Given the description of an element on the screen output the (x, y) to click on. 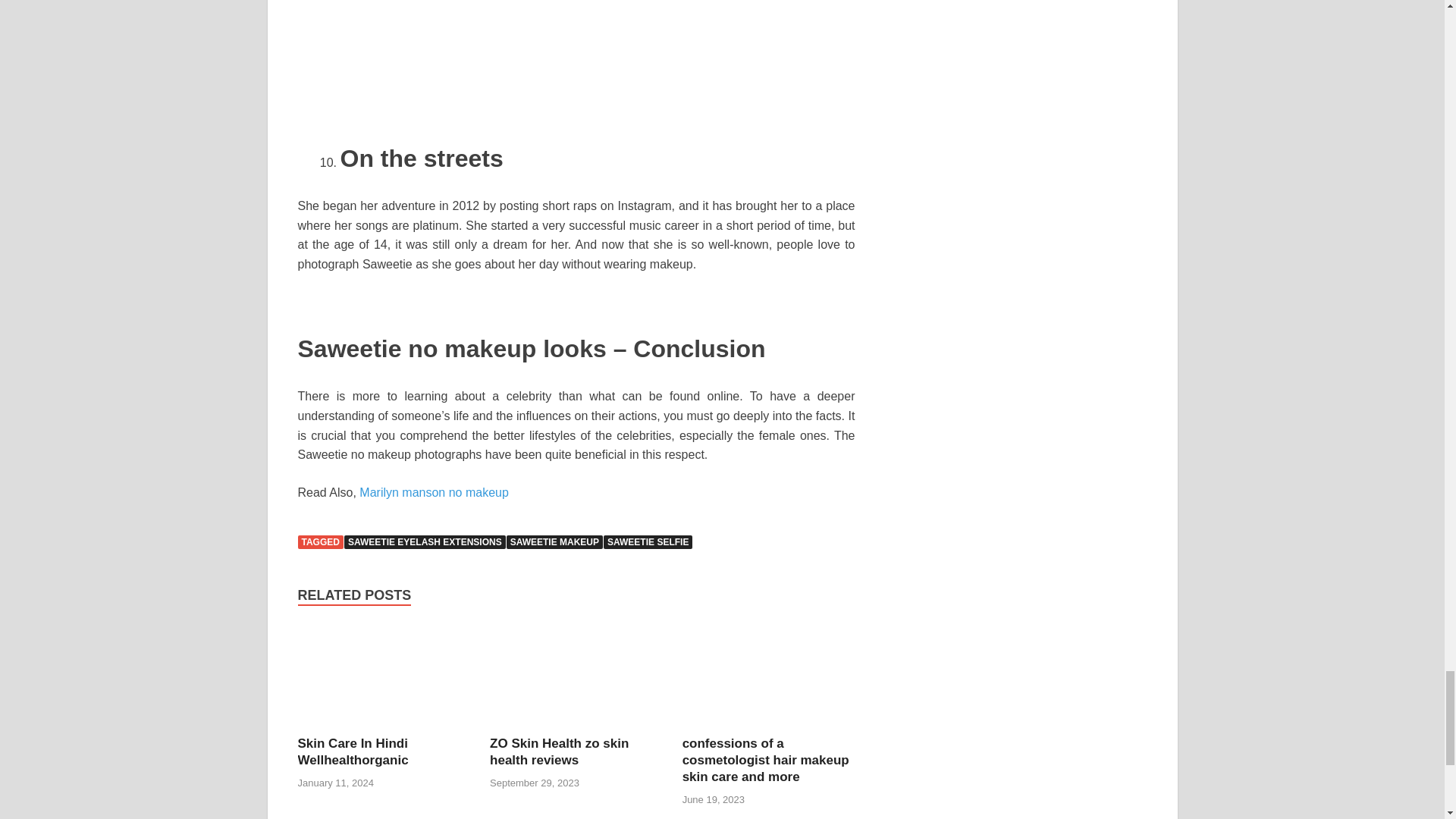
ZO Skin Health zo skin health reviews (558, 751)
Skin Care In Hindi Wellhealthorganic (383, 678)
ZO Skin Health zo skin health reviews (575, 678)
Skin Care In Hindi Wellhealthorganic (352, 751)
